Given the description of an element on the screen output the (x, y) to click on. 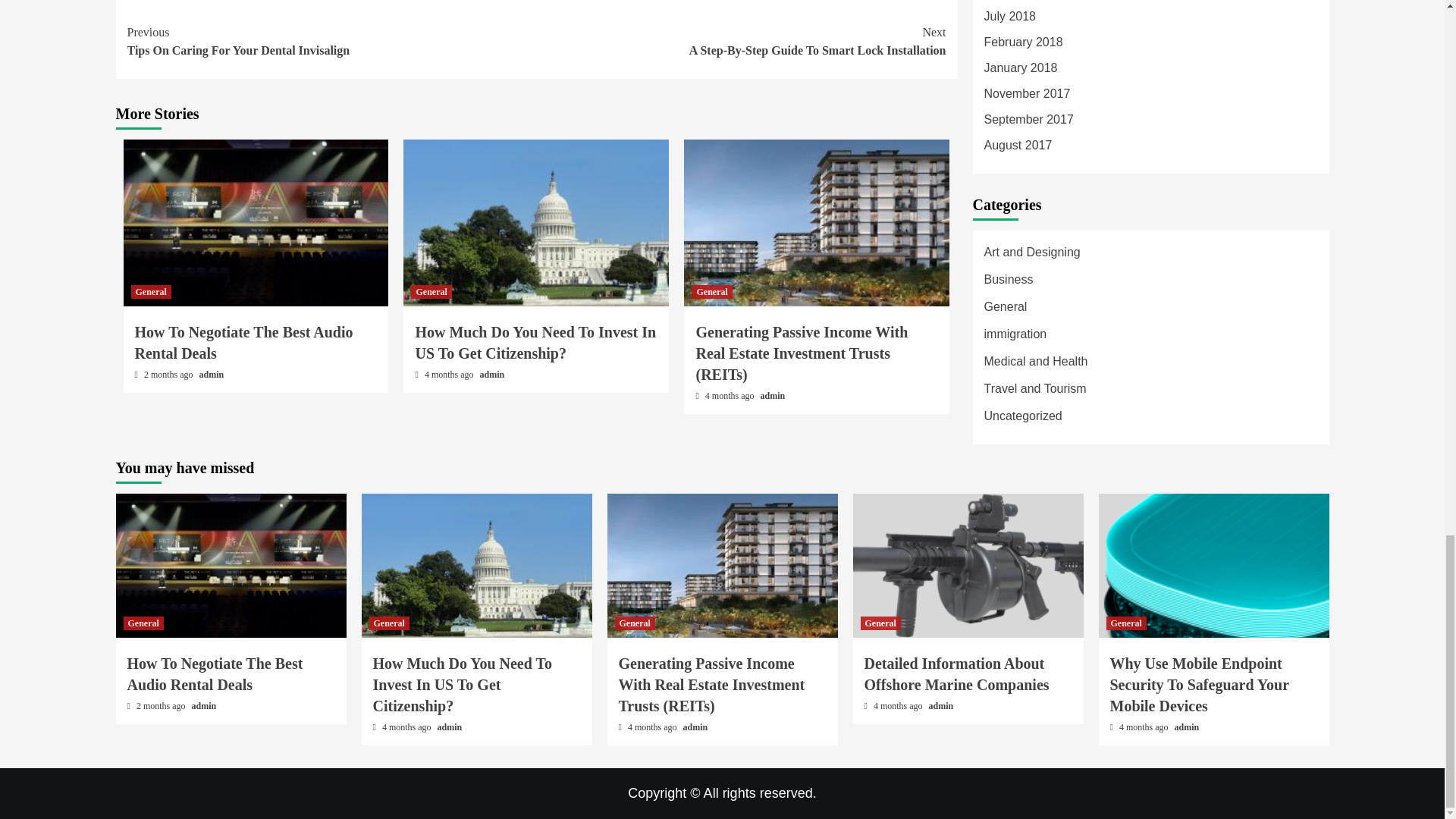
admin (211, 374)
How Much Do You Need To Invest In US To Get Citizenship? (535, 342)
General (430, 291)
How To Negotiate The Best Audio Rental Deals (244, 342)
admin (741, 41)
General (332, 41)
General (492, 374)
admin (711, 291)
